Given the description of an element on the screen output the (x, y) to click on. 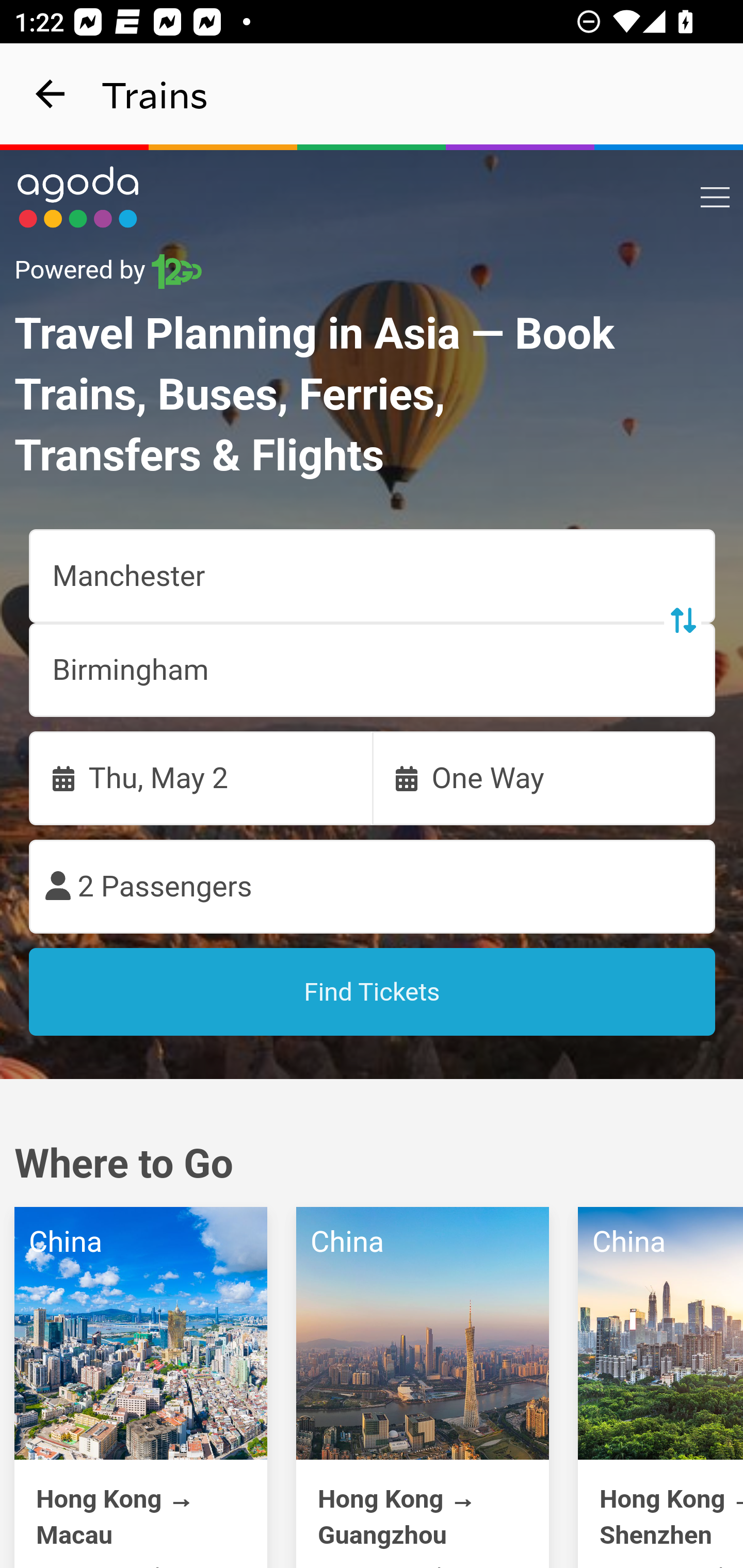
navigation_button (50, 93)
Link to main page 5418 (78, 197)
Manchester Swap trip points (372, 576)
Swap trip points (682, 619)
Birmingham (372, 670)
Thu, May 2 One Way (372, 778)
Thu, May 2 (200, 778)
One Way (544, 778)
 2 Passengers (372, 887)
Find Tickets (372, 992)
